Given the description of an element on the screen output the (x, y) to click on. 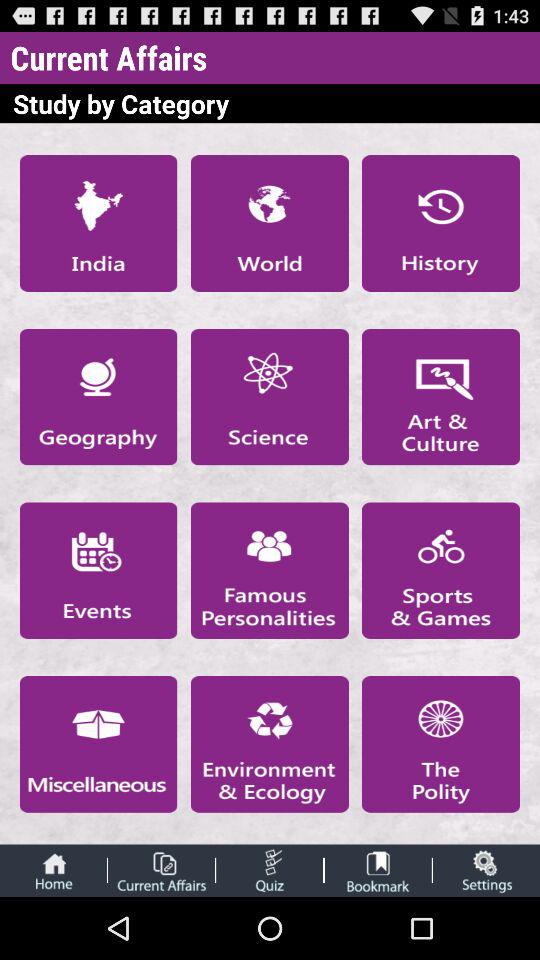
select study category (269, 570)
